Given the description of an element on the screen output the (x, y) to click on. 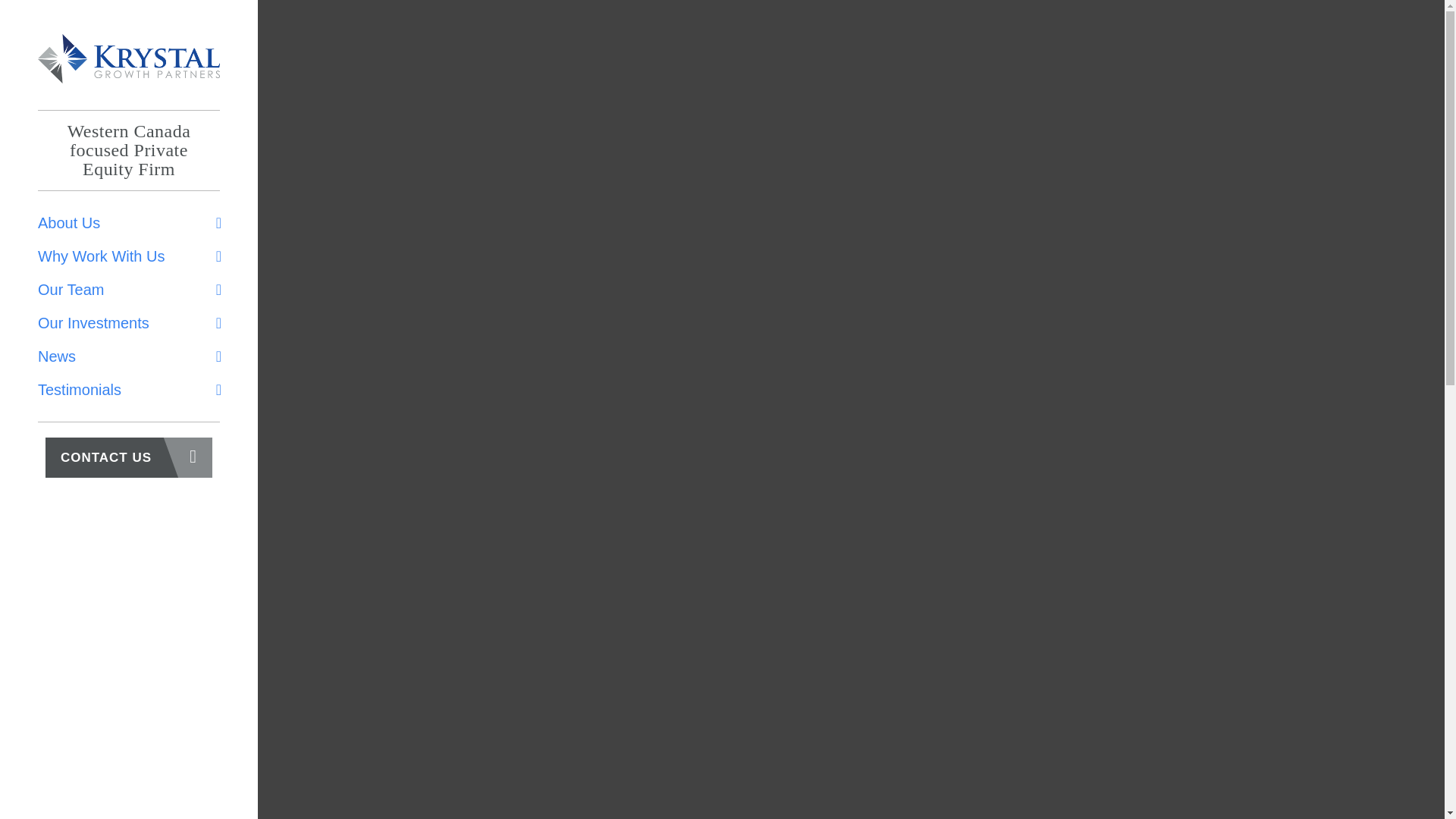
Our Investments (128, 322)
Krystal Financial (128, 58)
Why Work With Us (128, 255)
About Us (128, 222)
News (128, 356)
Our Team (128, 289)
Testimonials (128, 389)
CONTACT US (128, 457)
